Given the description of an element on the screen output the (x, y) to click on. 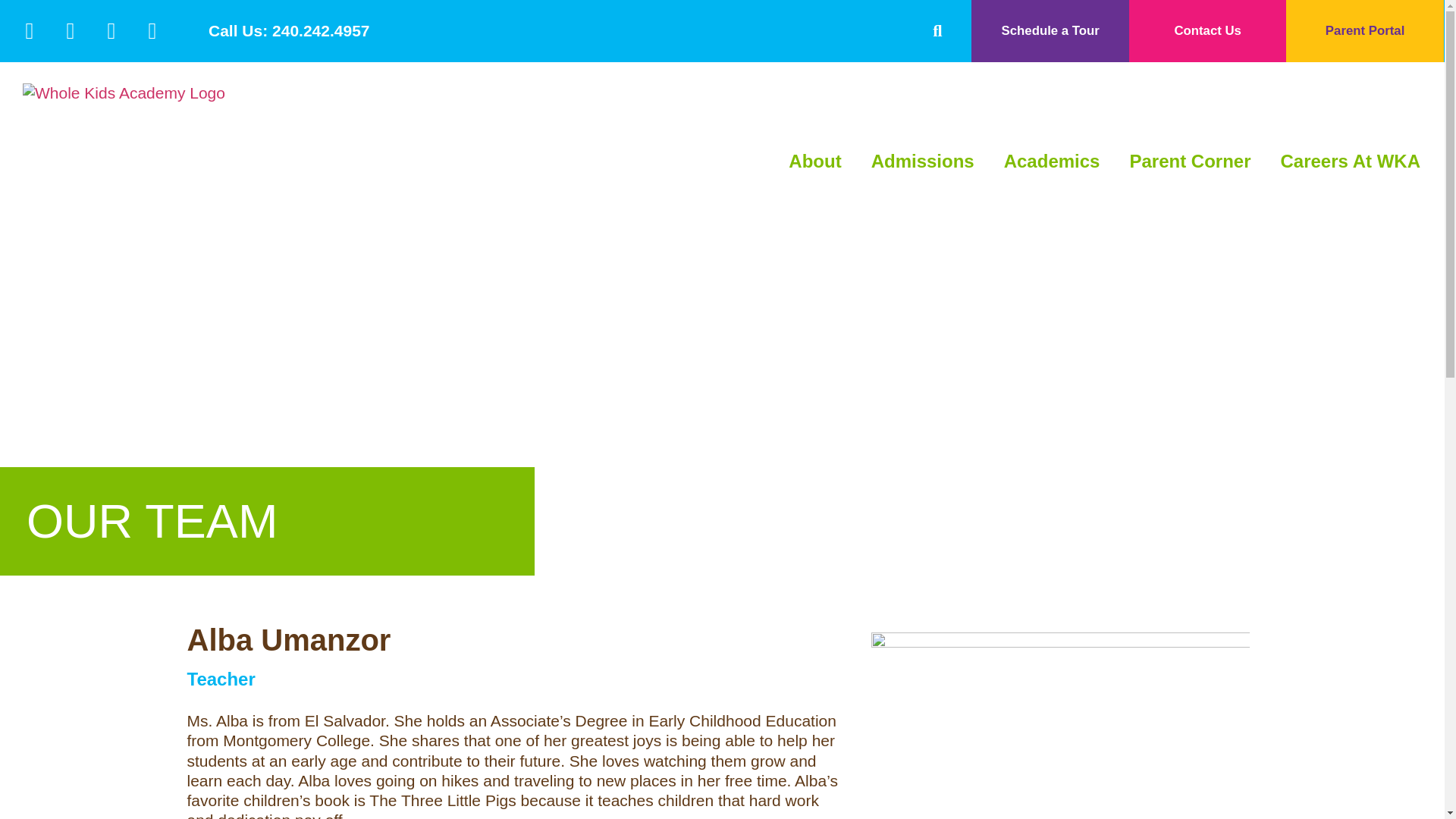
Academics (1052, 161)
Careers At WKA (1350, 161)
Contact Us (1207, 31)
About (815, 161)
240.242.4957 (320, 30)
Admissions (922, 161)
Parent Corner (1189, 161)
Schedule a Tour (1050, 31)
Parent Portal (1364, 31)
